Given the description of an element on the screen output the (x, y) to click on. 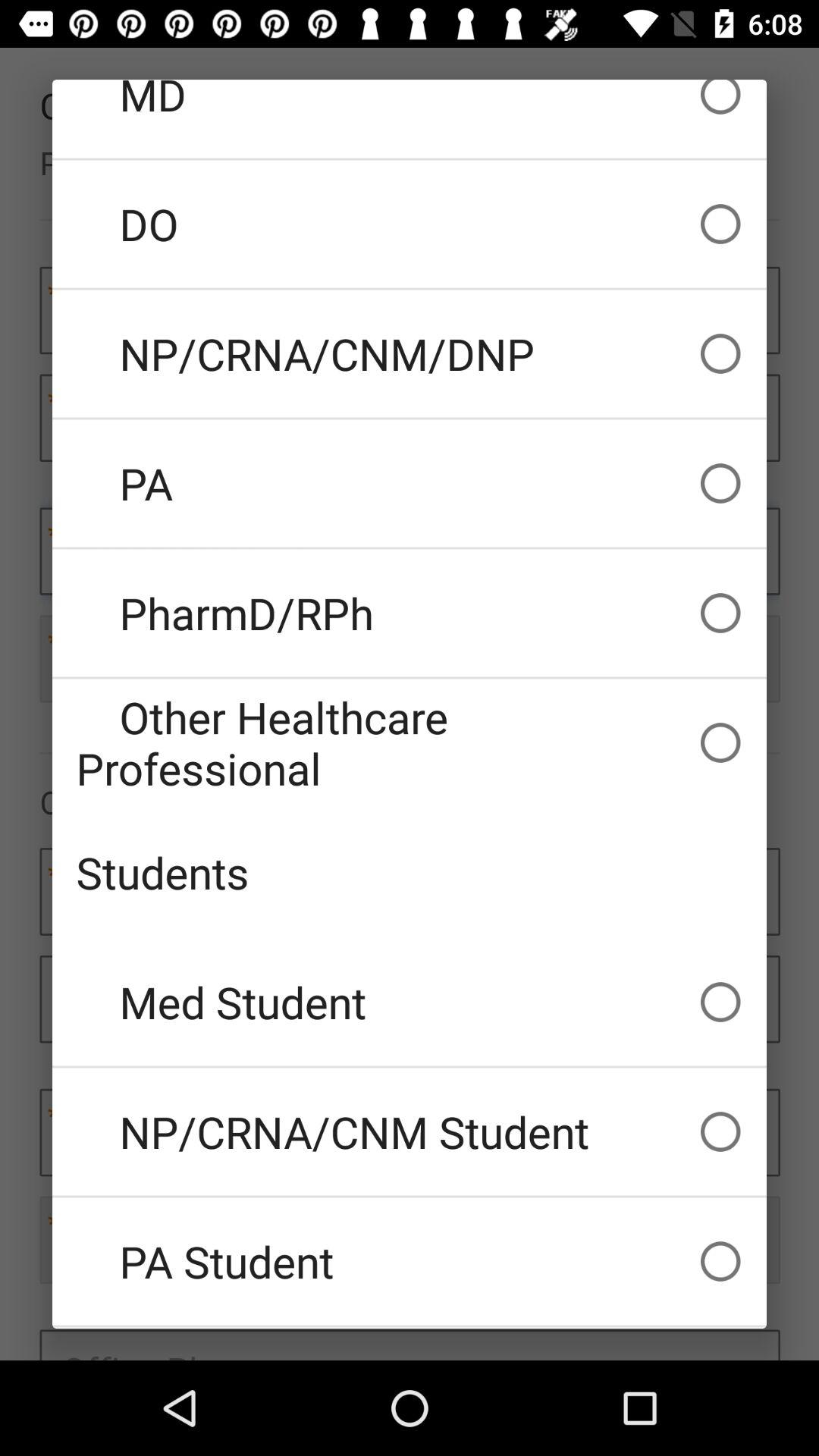
tap icon above students icon (409, 742)
